Given the description of an element on the screen output the (x, y) to click on. 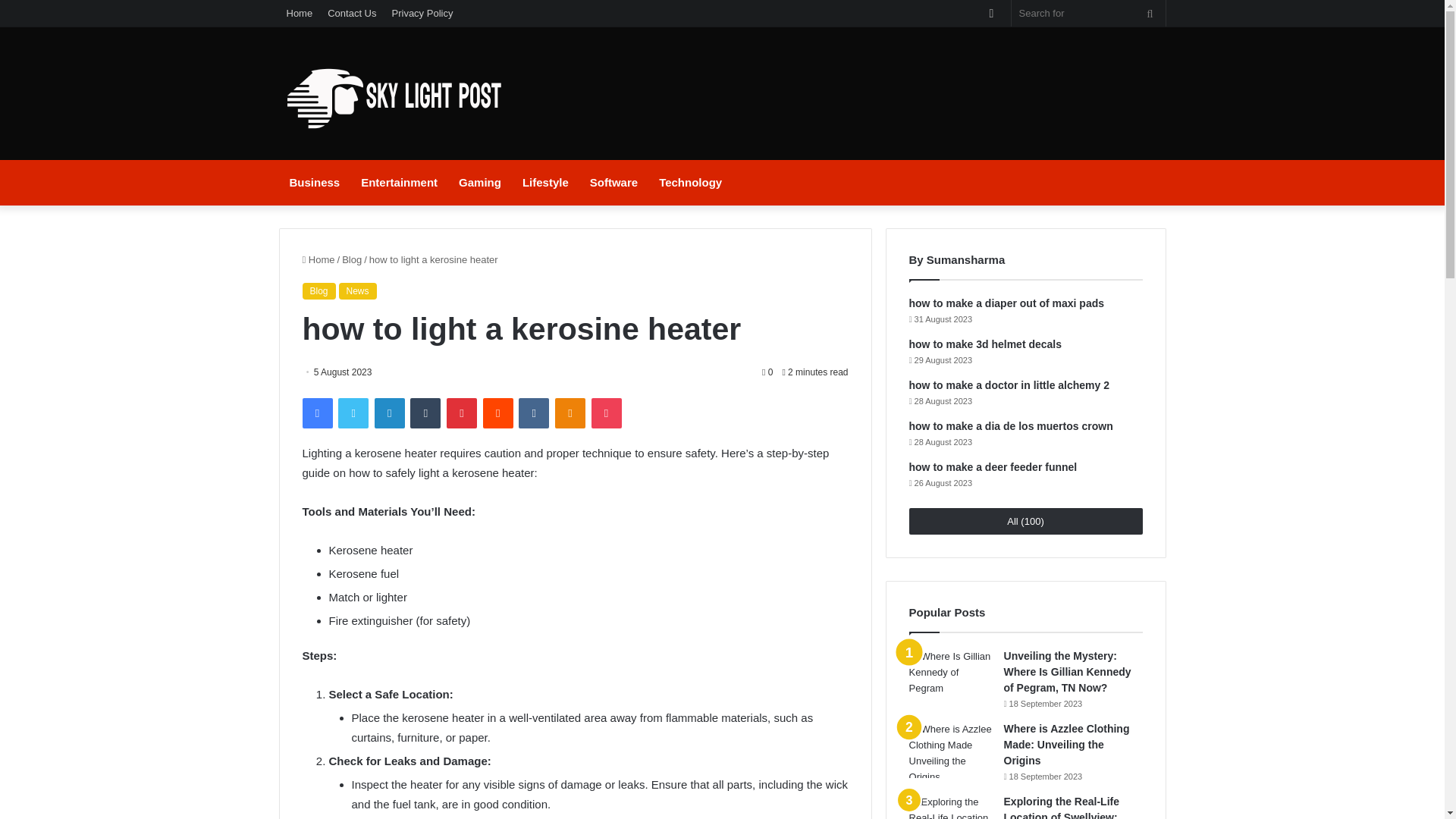
Pocket (606, 413)
Tumblr (425, 413)
Contact Us (352, 13)
Pinterest (461, 413)
VKontakte (533, 413)
Technology (689, 182)
Home (299, 13)
LinkedIn (389, 413)
Reddit (498, 413)
Odnoklassniki (569, 413)
